Given the description of an element on the screen output the (x, y) to click on. 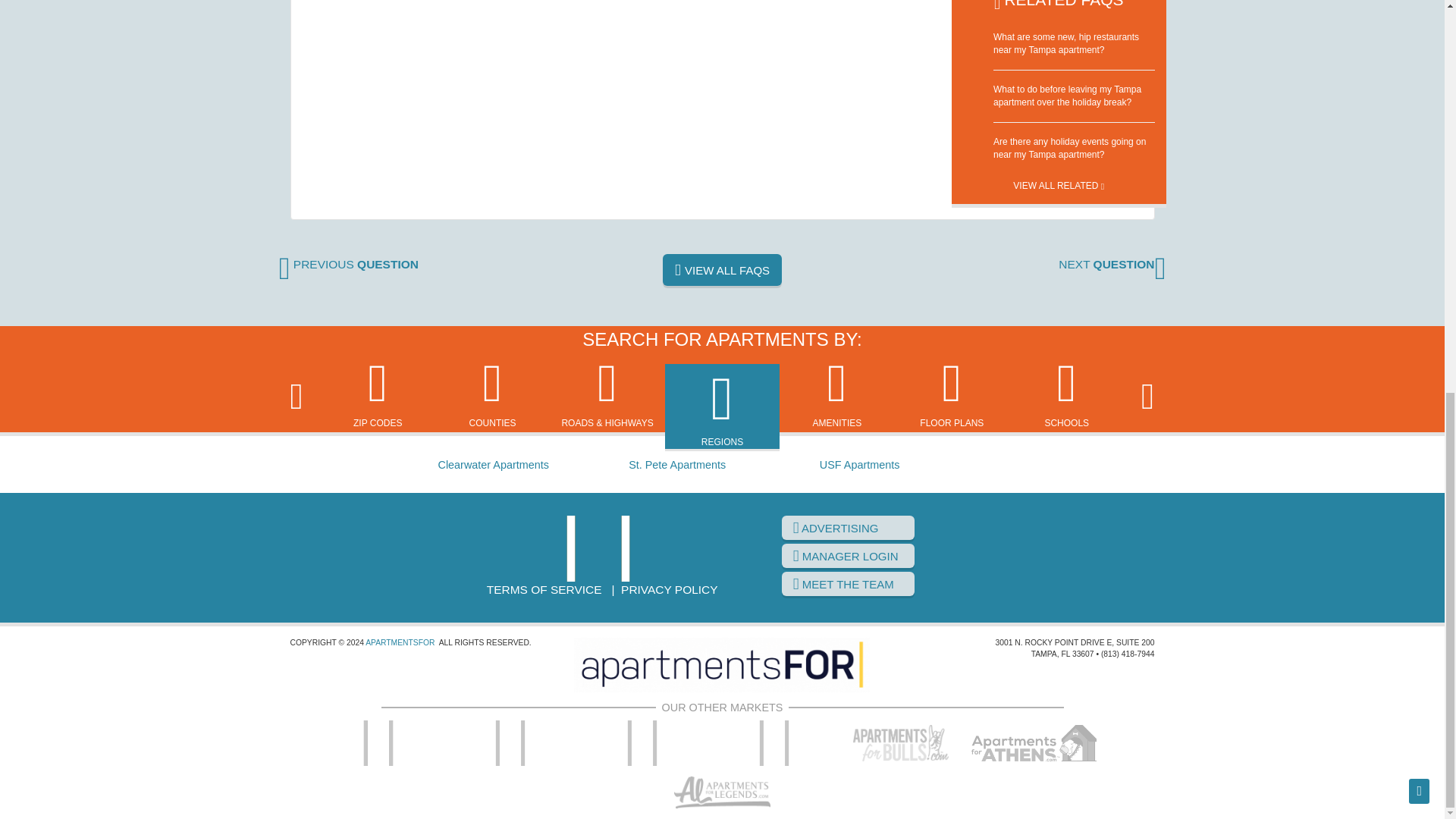
REGIONS (722, 407)
COUNTIES (492, 392)
VIEW ALL RELATED  (1058, 180)
 VIEW ALL FAQS (721, 269)
Terms of Service (544, 588)
AMENITIES (837, 392)
ZIP CODES (377, 392)
What are some new, hip restaurants near my Tampa apartment? (1065, 43)
Tampa, FL Apartments (601, 547)
NEXT QUESTION (1112, 264)
 PREVIOUS QUESTION (349, 264)
